Given the description of an element on the screen output the (x, y) to click on. 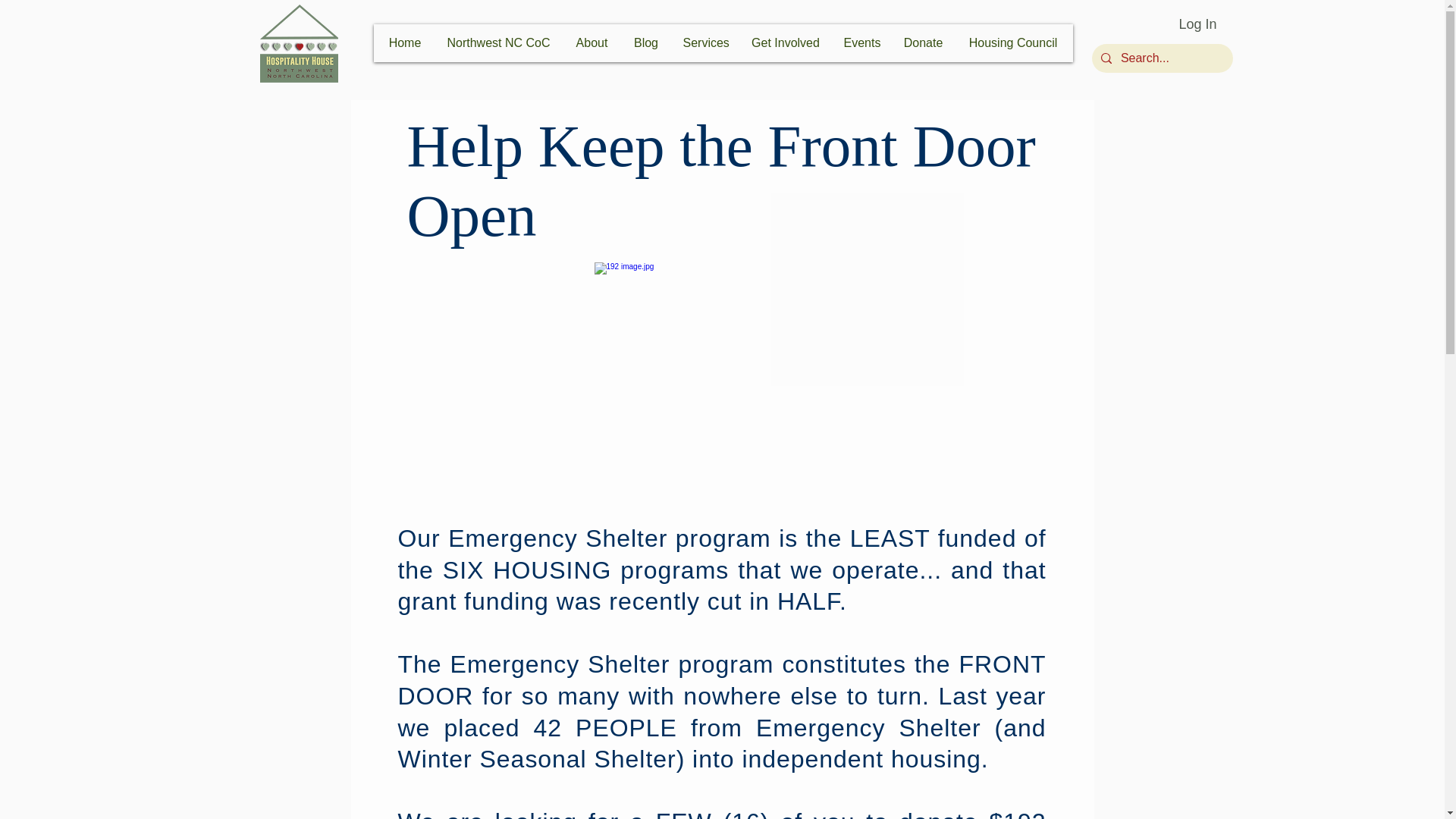
Blog (644, 42)
Northwest NC CoC (497, 42)
Get Involved (784, 42)
Services (703, 42)
Home (404, 42)
About (591, 42)
Events (860, 42)
